Given the description of an element on the screen output the (x, y) to click on. 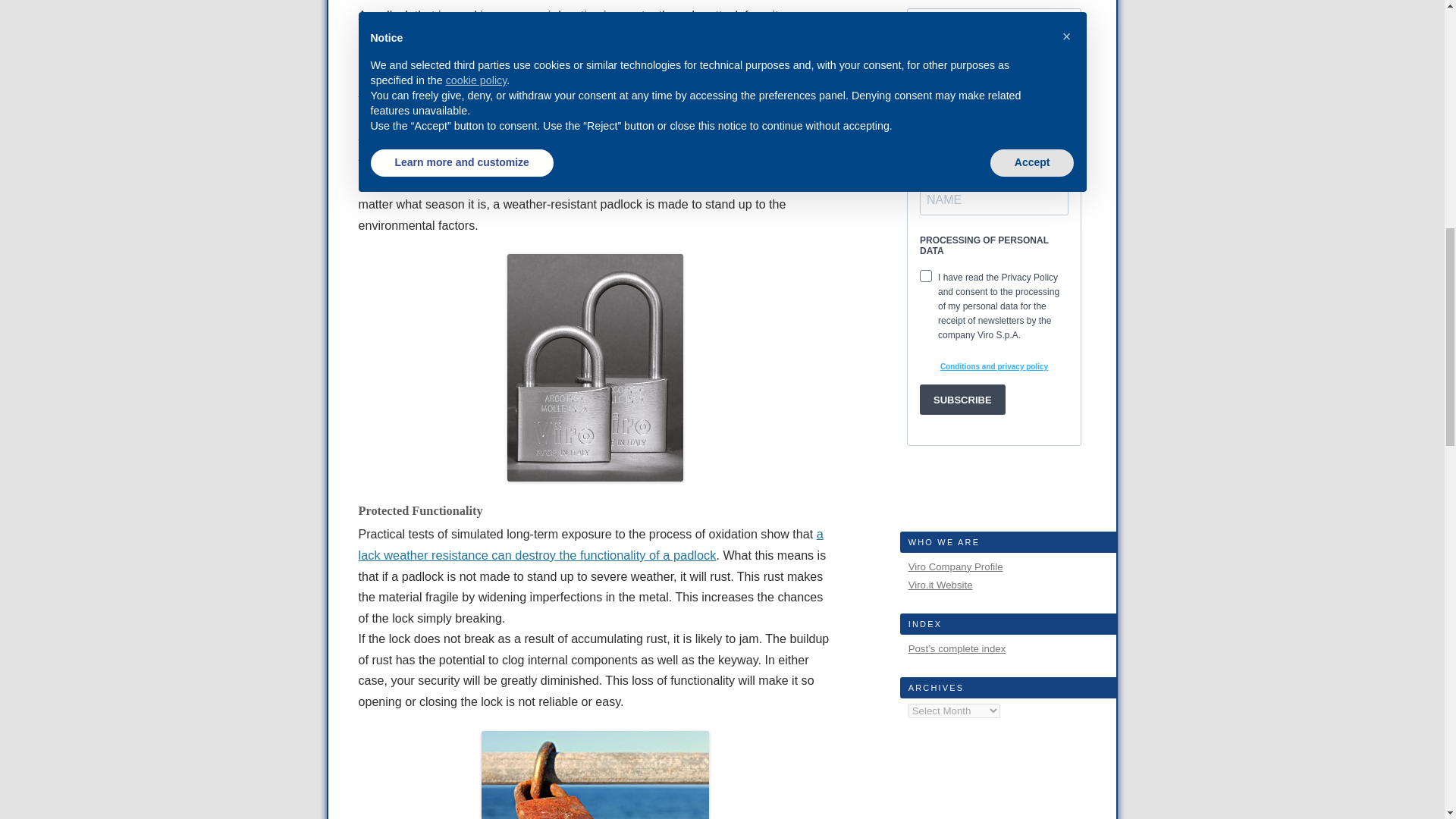
Viro.it Website (940, 584)
marine series of padlocks (531, 120)
Viro Company Profile (955, 566)
